Given the description of an element on the screen output the (x, y) to click on. 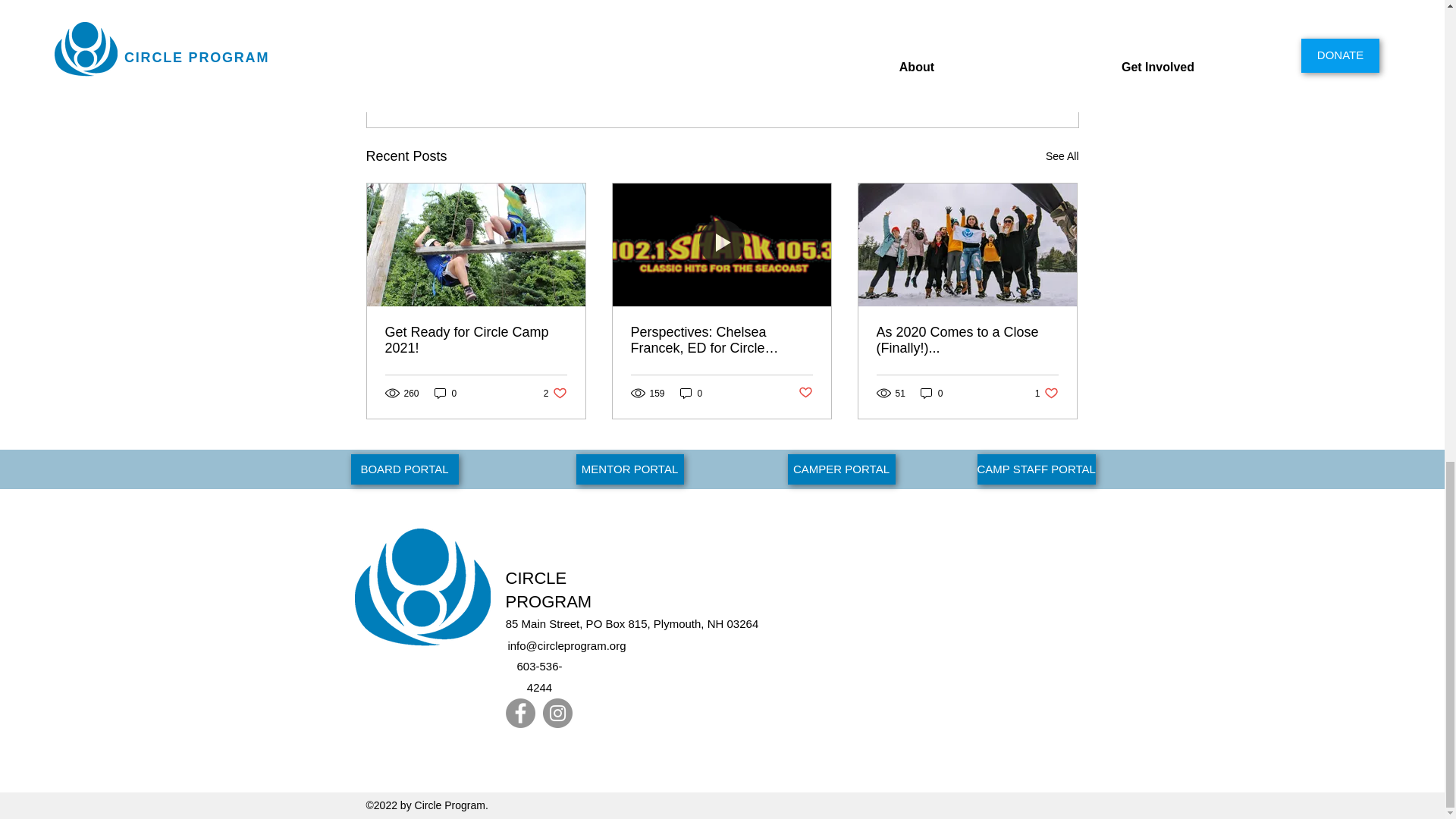
0 (931, 392)
CIRCLE PROGRAM (548, 589)
Post not marked as liked (995, 73)
CAMP STAFF PORTAL (1035, 469)
0 (691, 392)
0 (445, 392)
BOARD PORTAL (1046, 392)
